Given the description of an element on the screen output the (x, y) to click on. 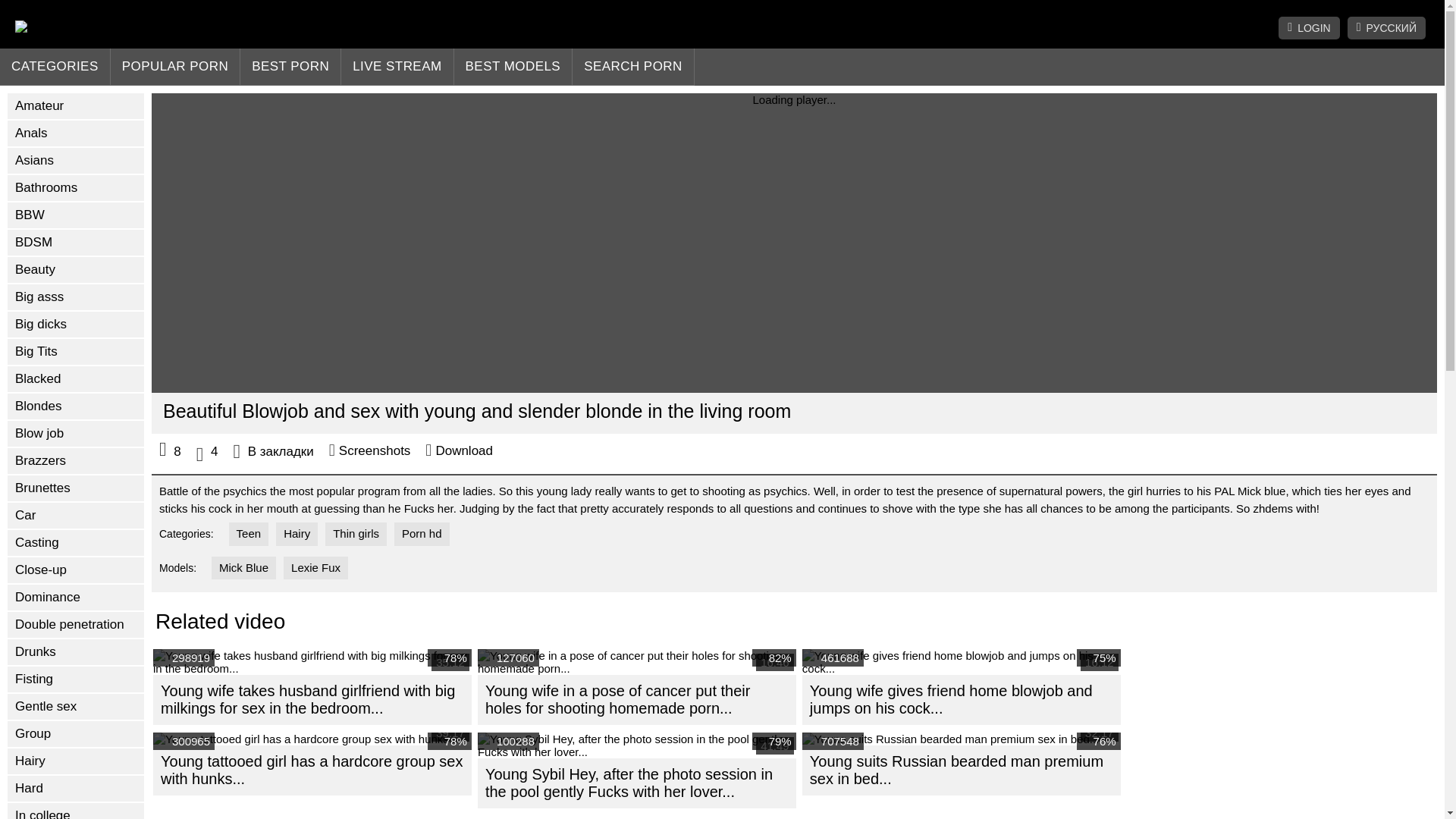
Bathrooms (75, 187)
Group (75, 733)
Hairy (75, 760)
Amateur (75, 105)
Dominance (75, 597)
POPULAR PORN (175, 66)
SEARCH PORN (633, 66)
Double penetration (75, 624)
Beauty (75, 269)
Anals (75, 133)
Blondes (75, 406)
LOGIN (1308, 27)
Big dicks (75, 324)
BDSM (75, 242)
Drunks (75, 652)
